Given the description of an element on the screen output the (x, y) to click on. 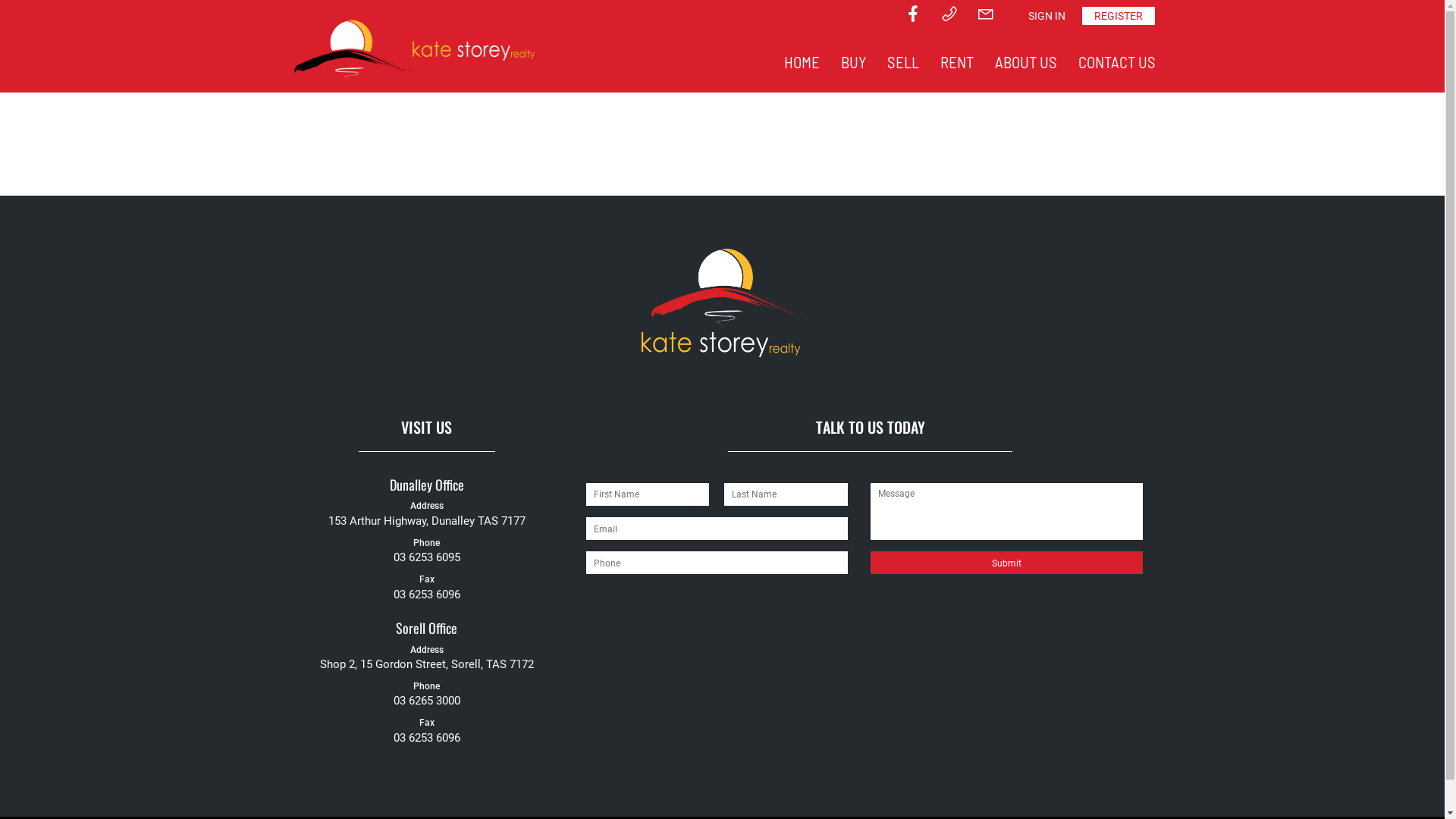
Submit Element type: text (1006, 562)
ABOUT US Element type: text (1025, 61)
SELL Element type: text (902, 61)
CONTACT US Element type: text (1116, 61)
03 6253 6095 Element type: text (425, 557)
BUY Element type: text (852, 61)
REGISTER Element type: text (1117, 15)
03 6265 3000 Element type: text (425, 700)
HOME Element type: text (801, 61)
SIGN IN Element type: text (1046, 15)
RENT Element type: text (956, 61)
